Given the description of an element on the screen output the (x, y) to click on. 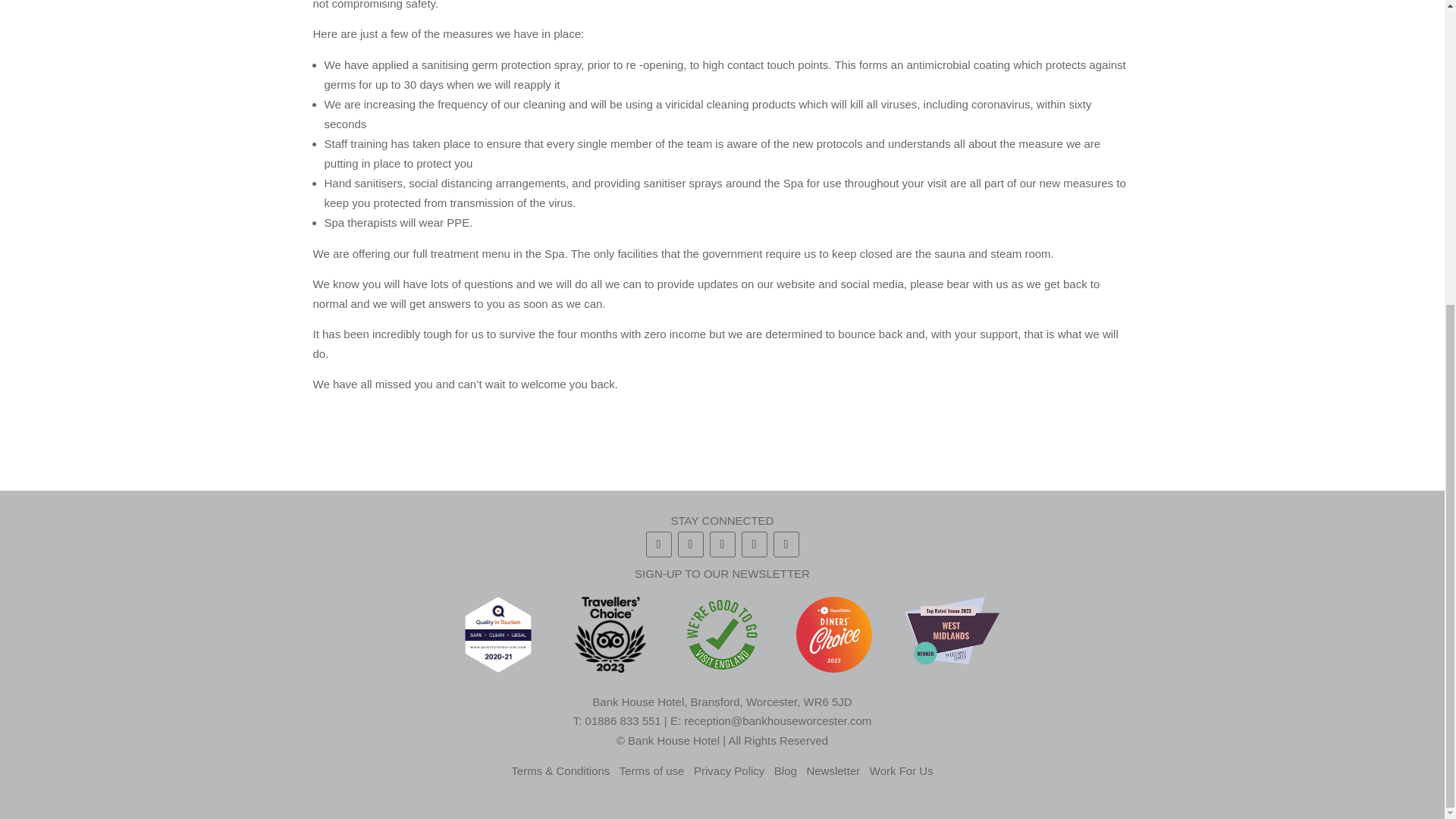
Diners Choice (834, 633)
QIT-Accreditation-200 (497, 633)
Good-To-Go-England-200 (721, 633)
Follow on LinkedIn (786, 544)
Follow on Facebook (658, 544)
WeddingDates Wedding Venue Awards 2023 (951, 630)
Follow on Instagram (690, 544)
Follow on Pinterest (754, 544)
Follow on X (722, 544)
